Given the description of an element on the screen output the (x, y) to click on. 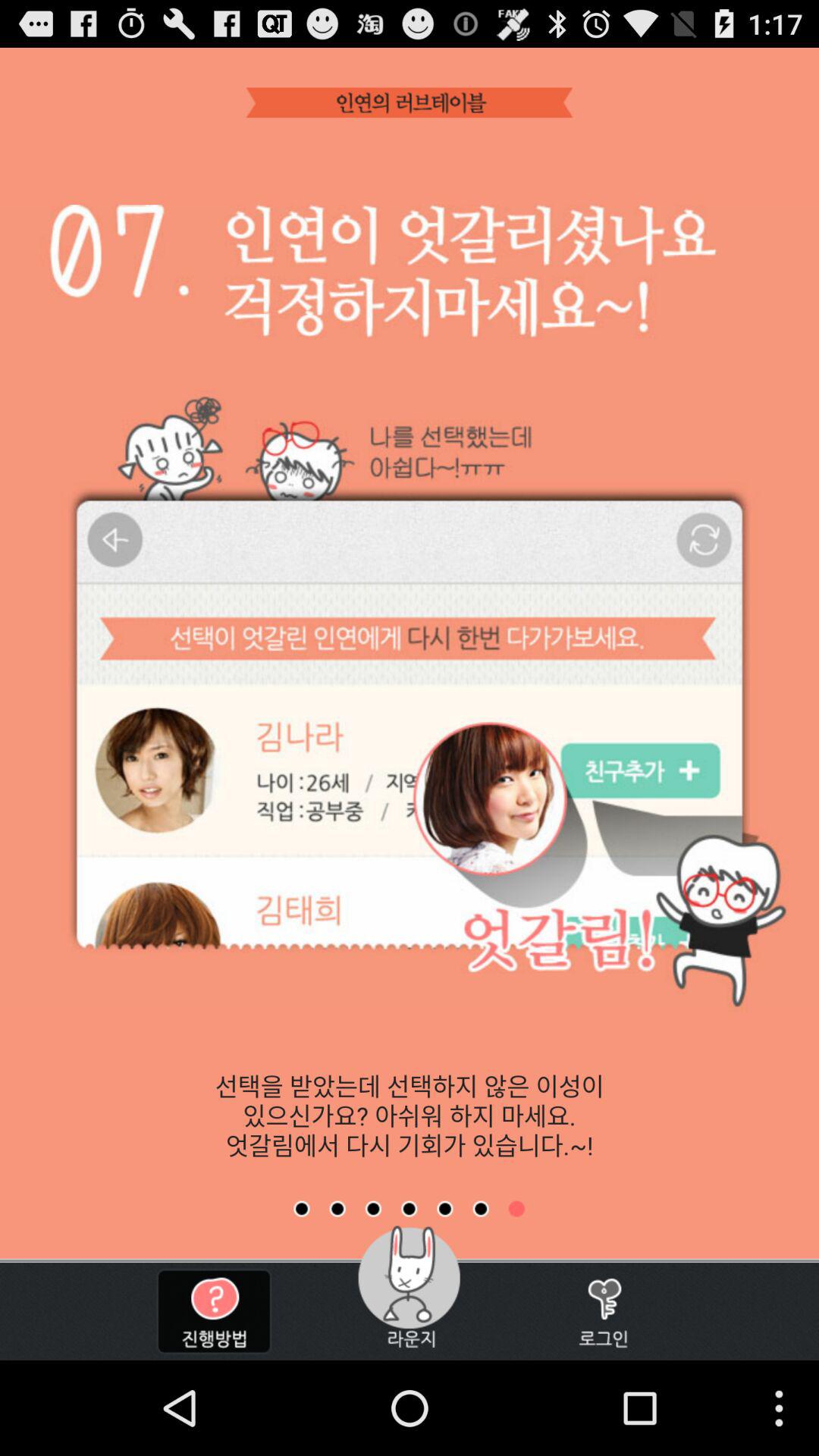
go to help (213, 1311)
